Given the description of an element on the screen output the (x, y) to click on. 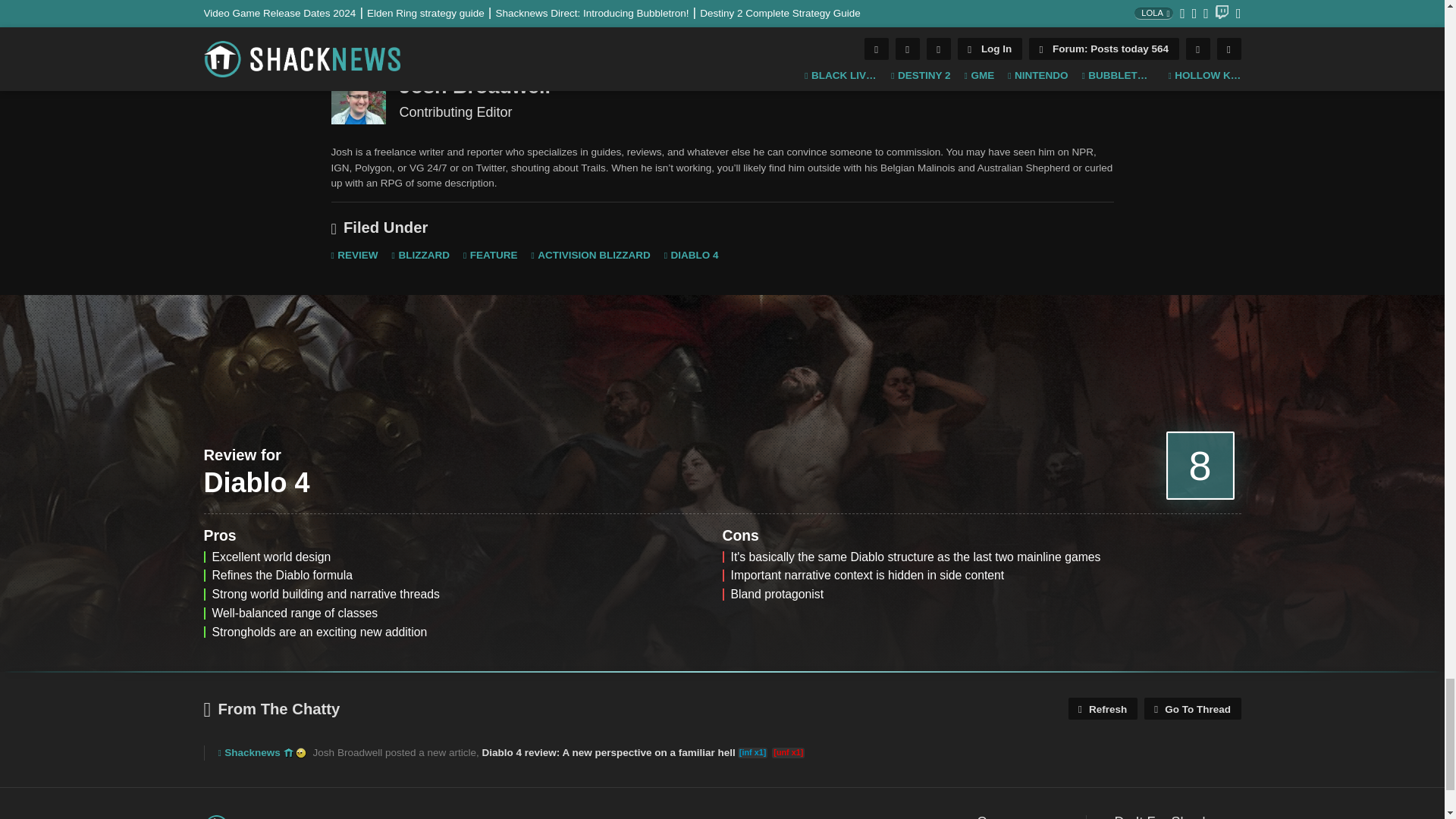
legacy 20 years (300, 752)
Contributing Editor (357, 96)
legacy 10 years (288, 752)
